Given the description of an element on the screen output the (x, y) to click on. 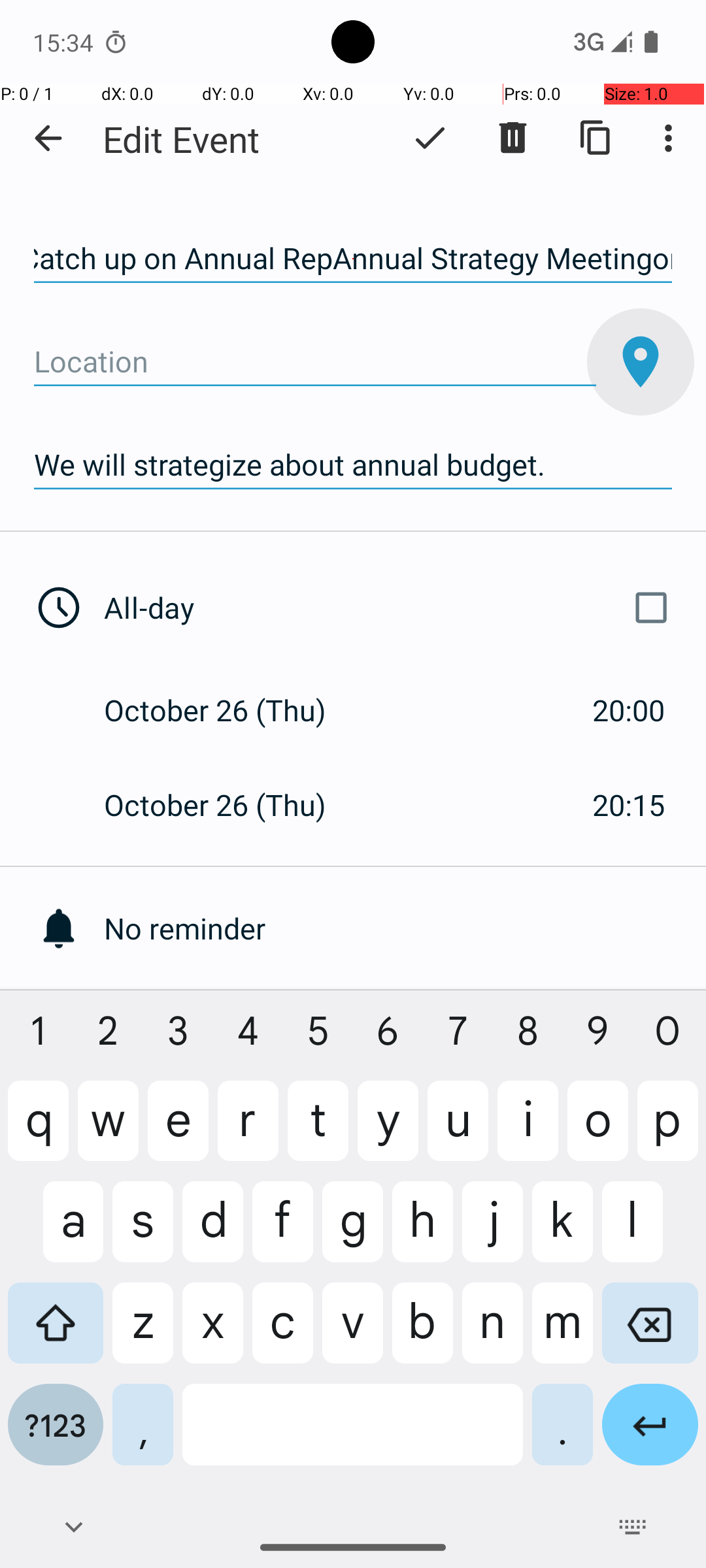
Catch up on Annual RepAnnual Strategy Meetingort Element type: android.widget.EditText (352, 258)
We will strategize about annual budget. Element type: android.widget.EditText (352, 465)
October 26 (Thu) Element type: android.widget.TextView (228, 709)
20:15 Element type: android.widget.TextView (628, 804)
